Given the description of an element on the screen output the (x, y) to click on. 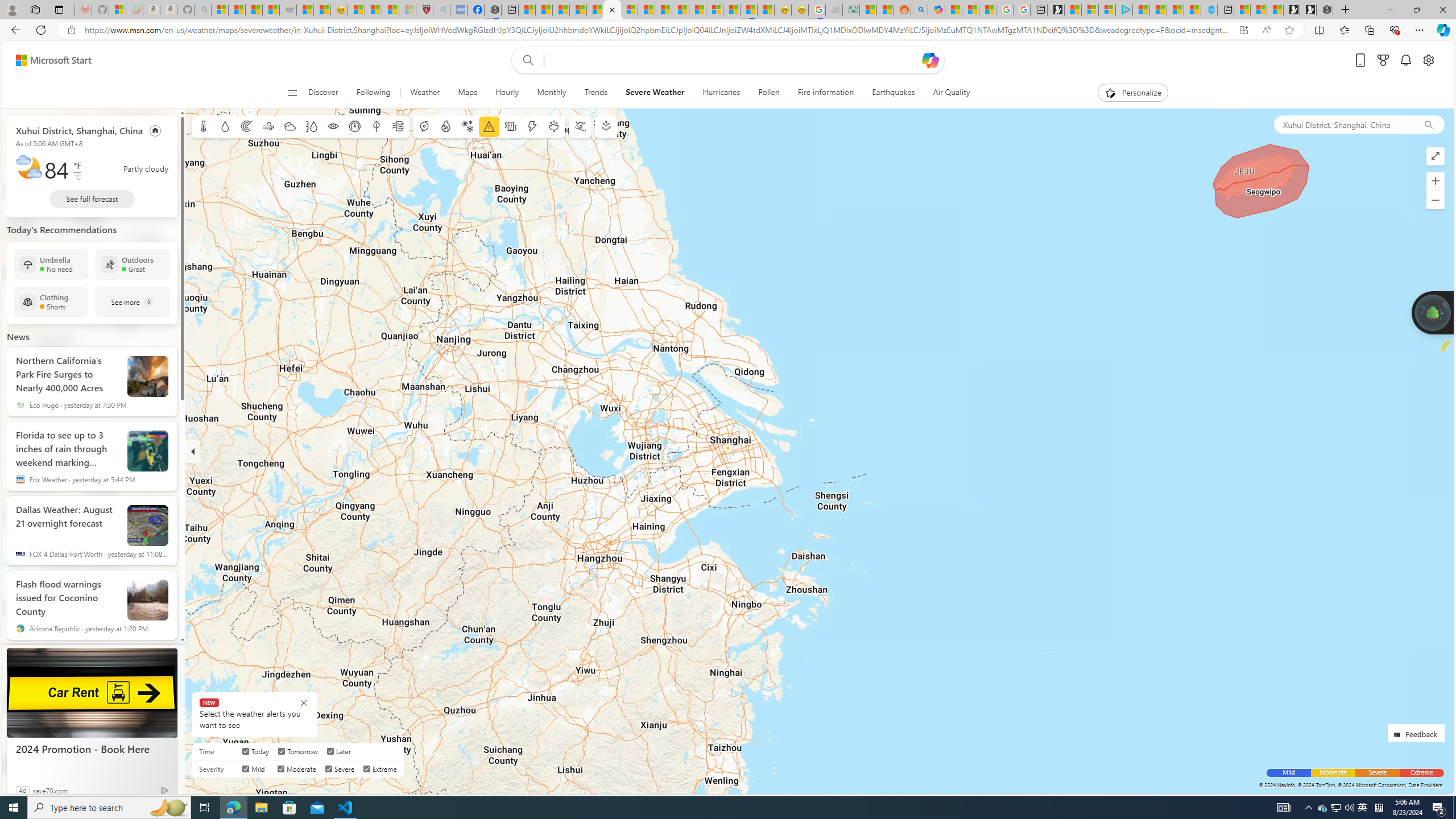
Zoom out (1435, 199)
Air quality (397, 126)
FOX 4 Dallas-Fort Worth (20, 553)
Microsoft Copilot in Bing (936, 9)
Class: feedback_link_icon-DS-EntryPoint1-1 (1399, 734)
Radar (246, 126)
12 Popular Science Lies that Must be Corrected - Sleeping (407, 9)
Fire information (825, 92)
